Given the description of an element on the screen output the (x, y) to click on. 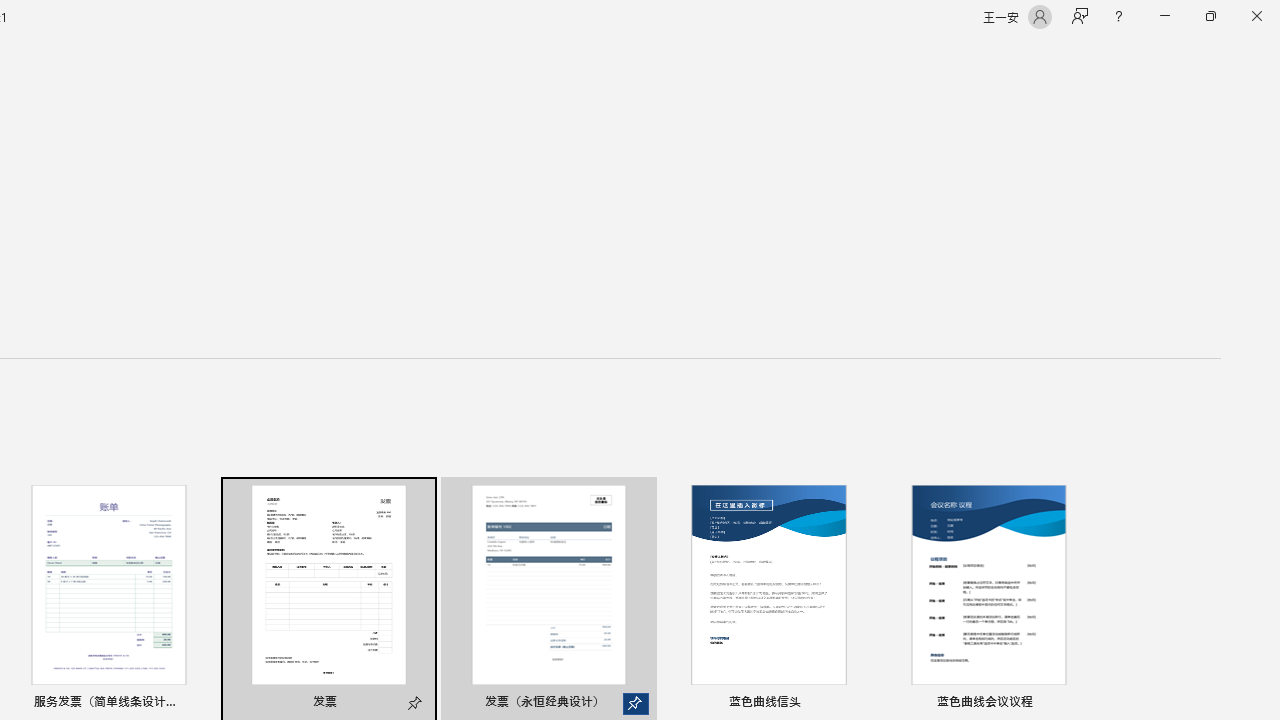
Restore Down (1210, 16)
Close (1256, 16)
Pin to list (1075, 703)
Help (1118, 16)
Minimize (1164, 16)
